Given the description of an element on the screen output the (x, y) to click on. 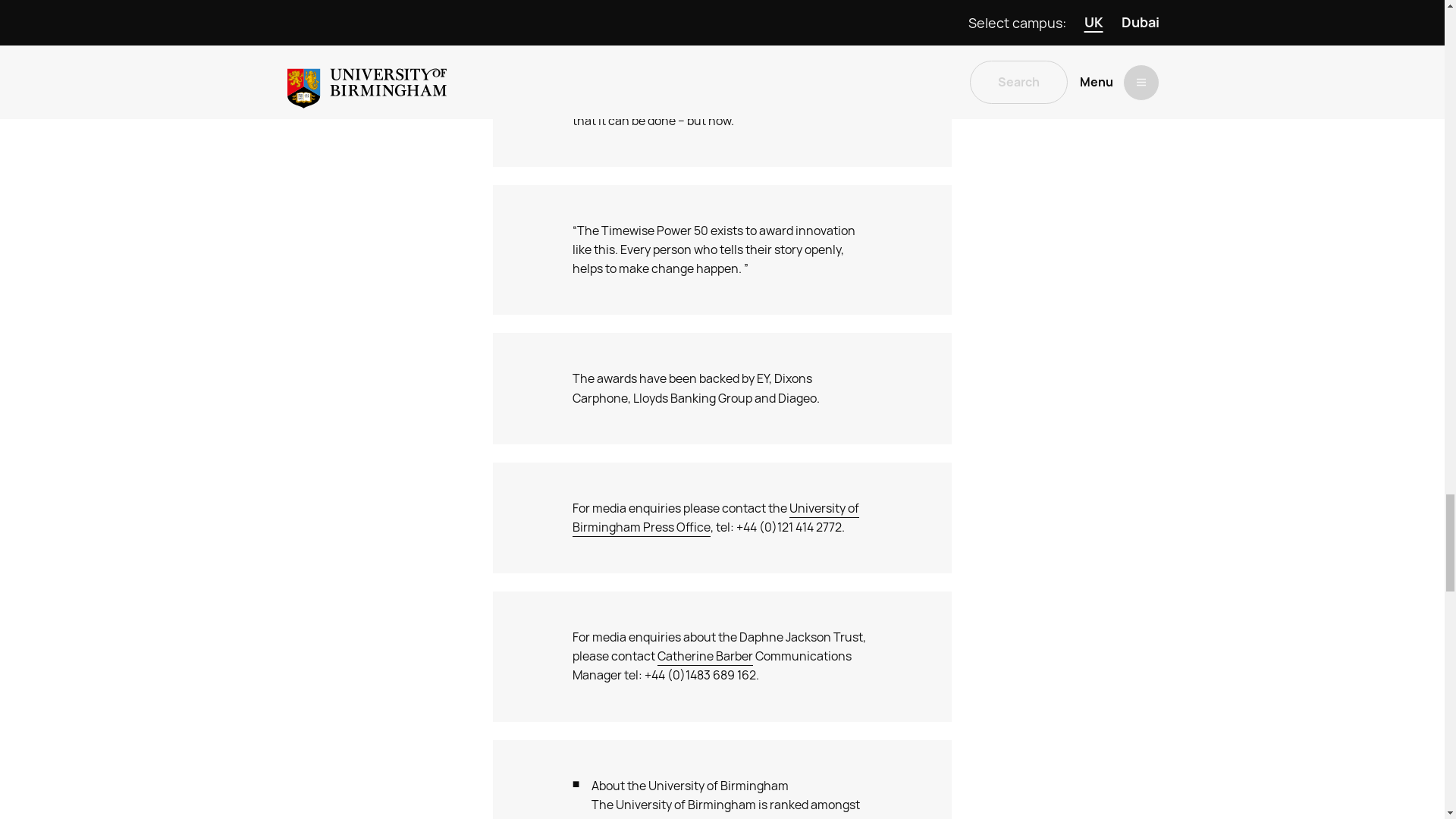
University of Birmingham Press Office (715, 518)
Catherine Barber (705, 656)
